Given the description of an element on the screen output the (x, y) to click on. 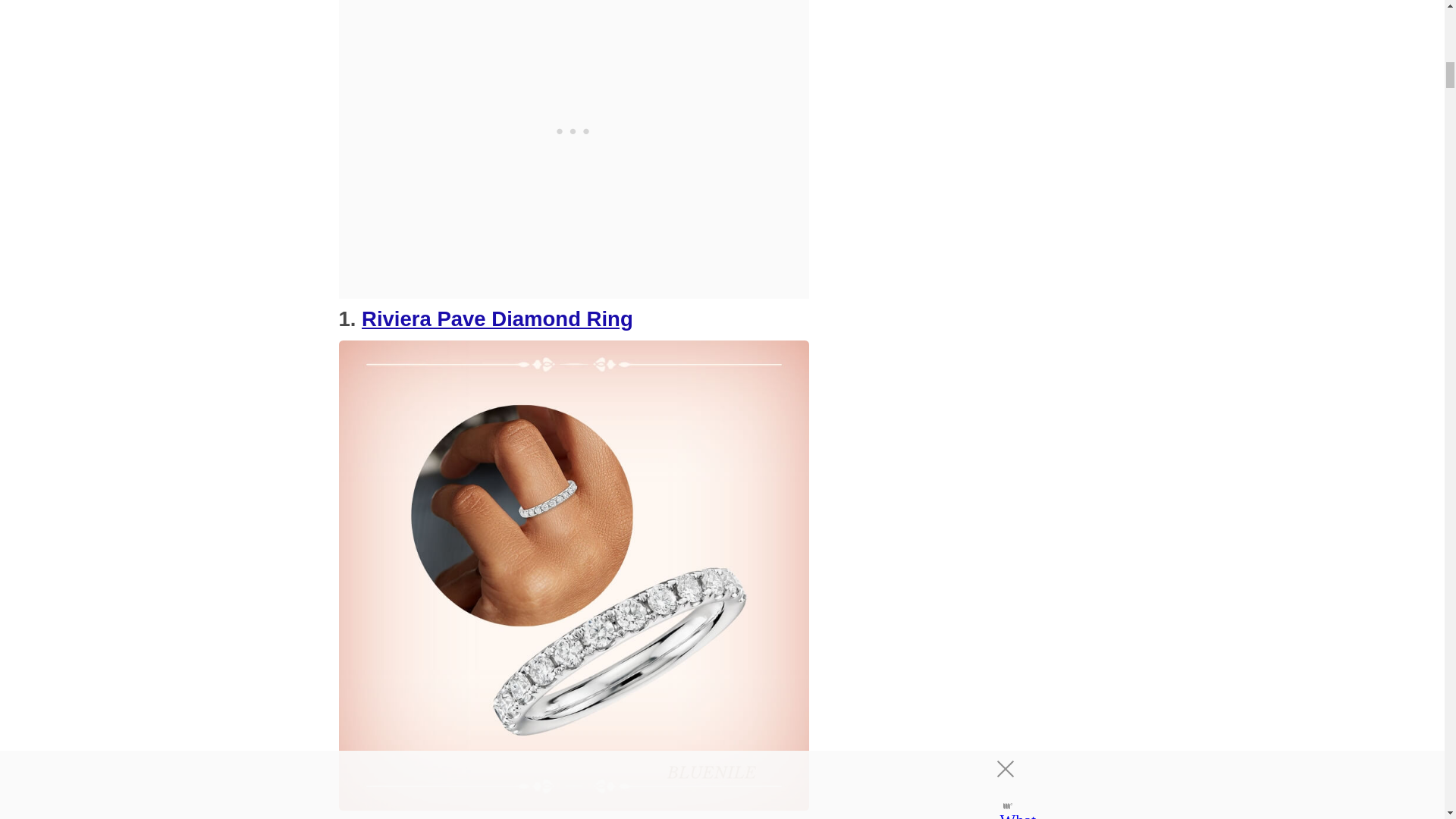
Riviera Pave Diamond Ring (497, 318)
